Given the description of an element on the screen output the (x, y) to click on. 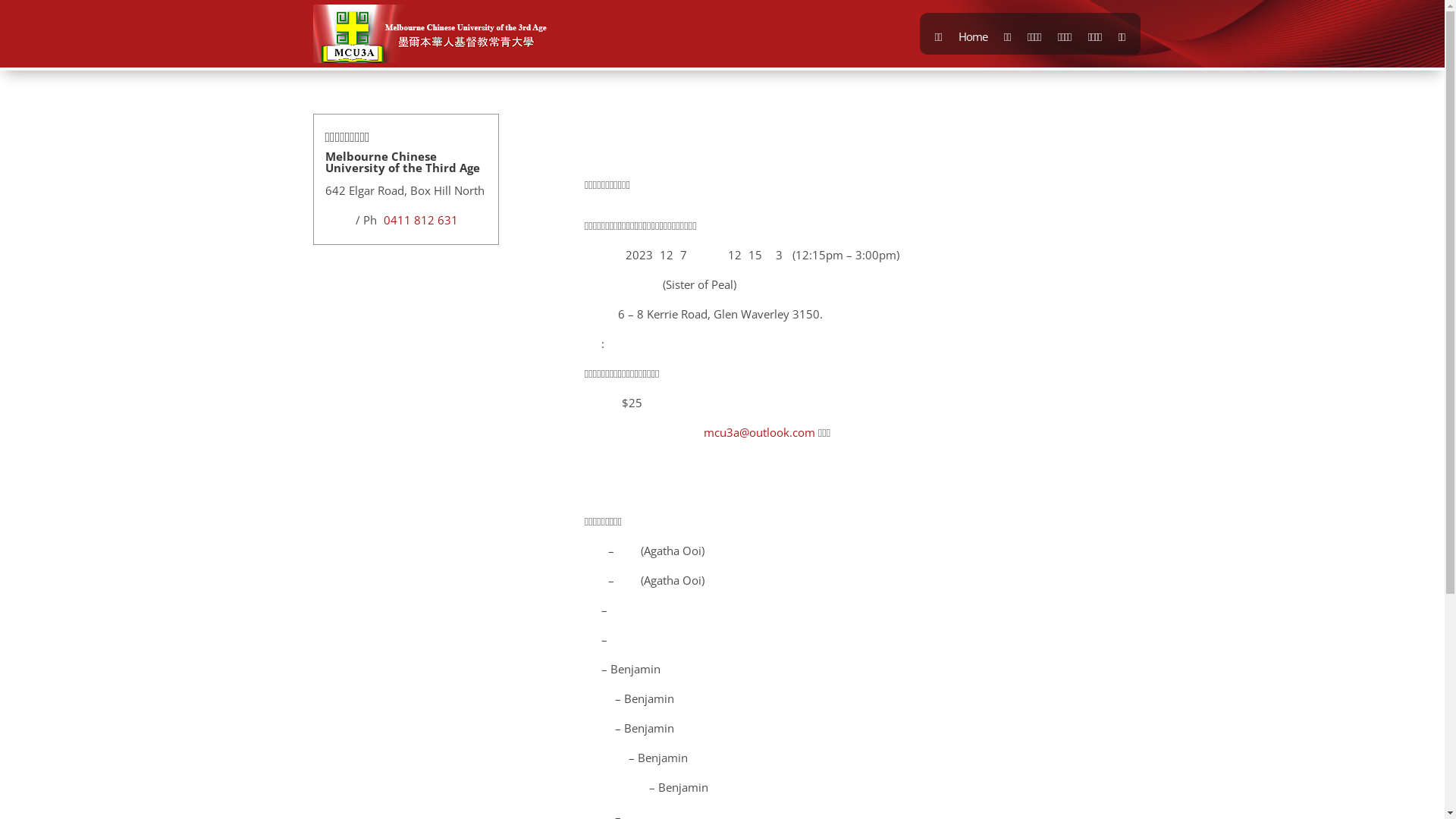
mcu3a@outlook.com Element type: text (759, 431)
0411 812 631 Element type: text (420, 219)
Home Element type: text (972, 35)
